Given the description of an element on the screen output the (x, y) to click on. 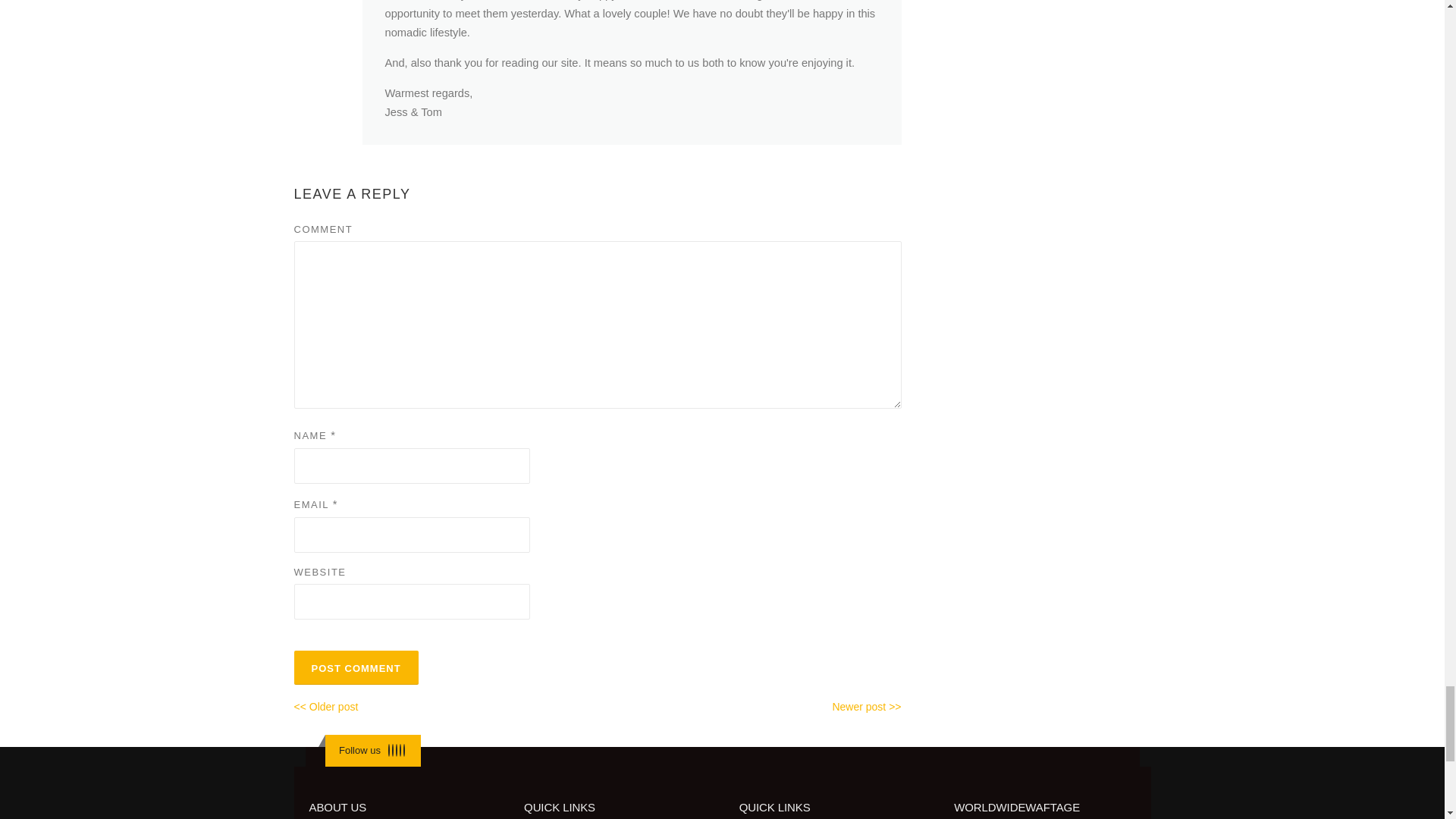
Post Comment (356, 667)
Instagram (399, 749)
